Given the description of an element on the screen output the (x, y) to click on. 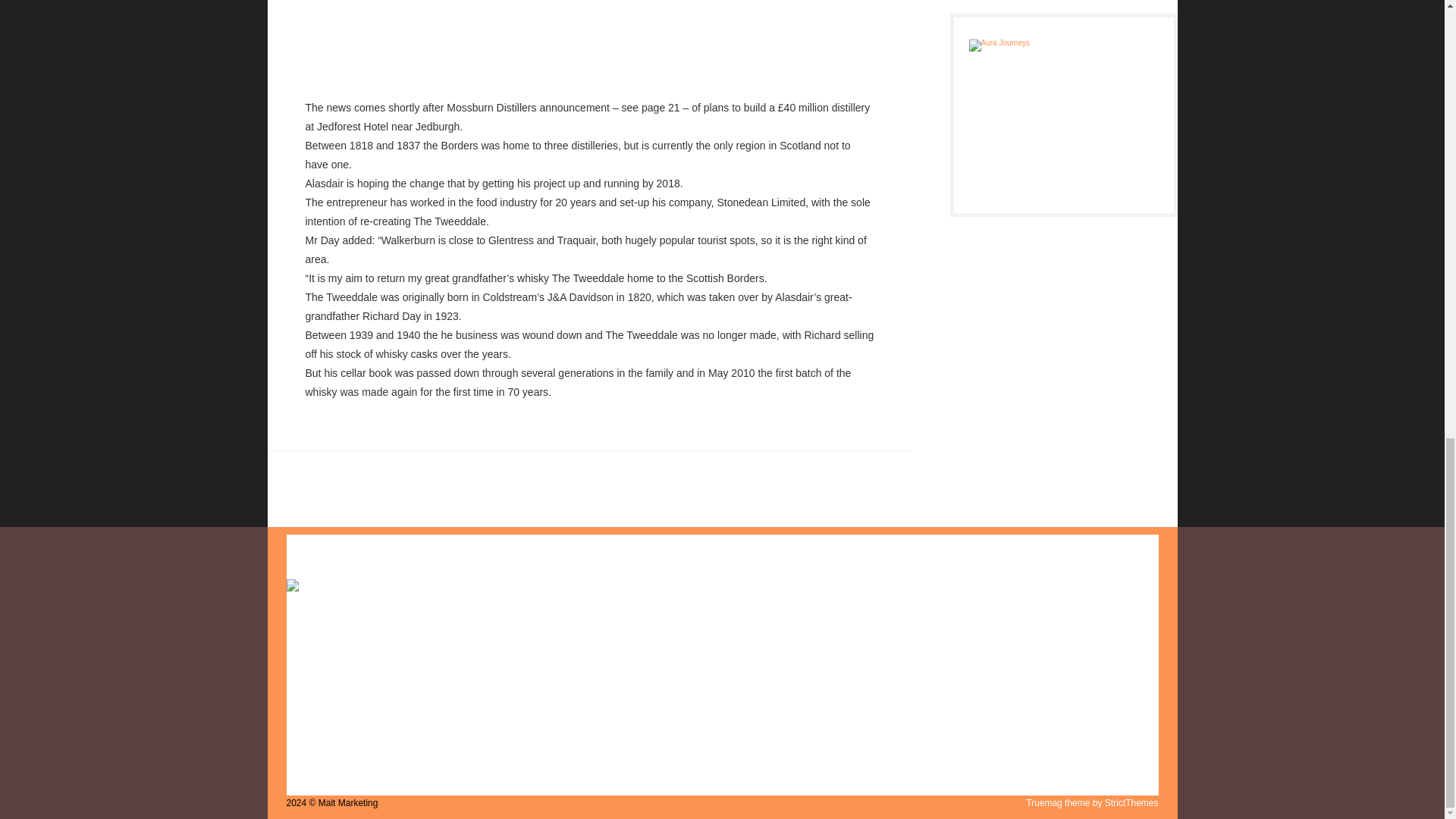
StrictThemes (1131, 802)
